Given the description of an element on the screen output the (x, y) to click on. 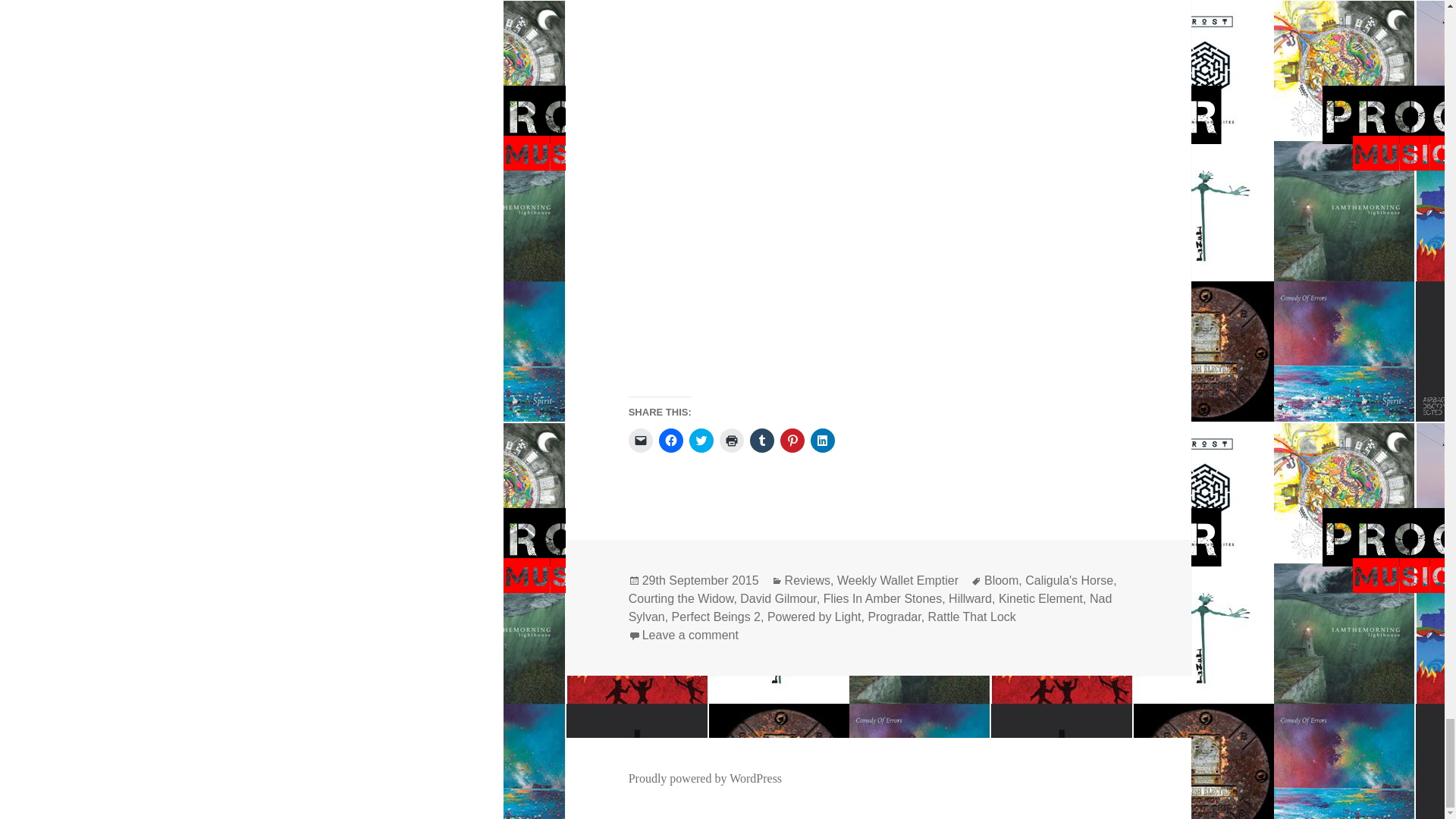
Click to share on Facebook (670, 440)
Click to share on Pinterest (792, 440)
Click to share on LinkedIn (822, 440)
Click to email a link to a friend (640, 440)
Click to print (731, 440)
Click to share on Tumblr (761, 440)
Click to share on Twitter (700, 440)
